Given the description of an element on the screen output the (x, y) to click on. 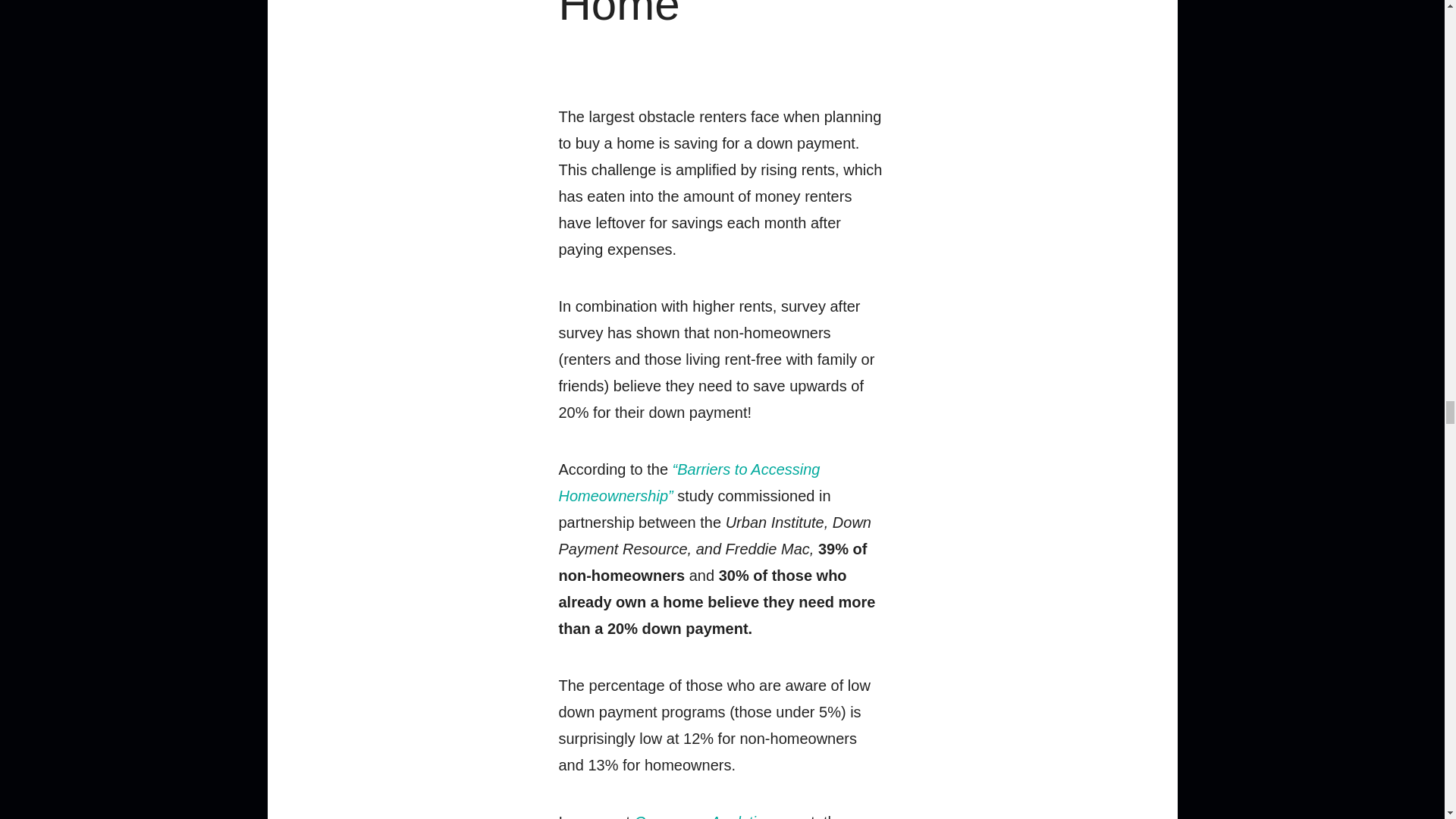
Convergys Analytics (702, 816)
